Given the description of an element on the screen output the (x, y) to click on. 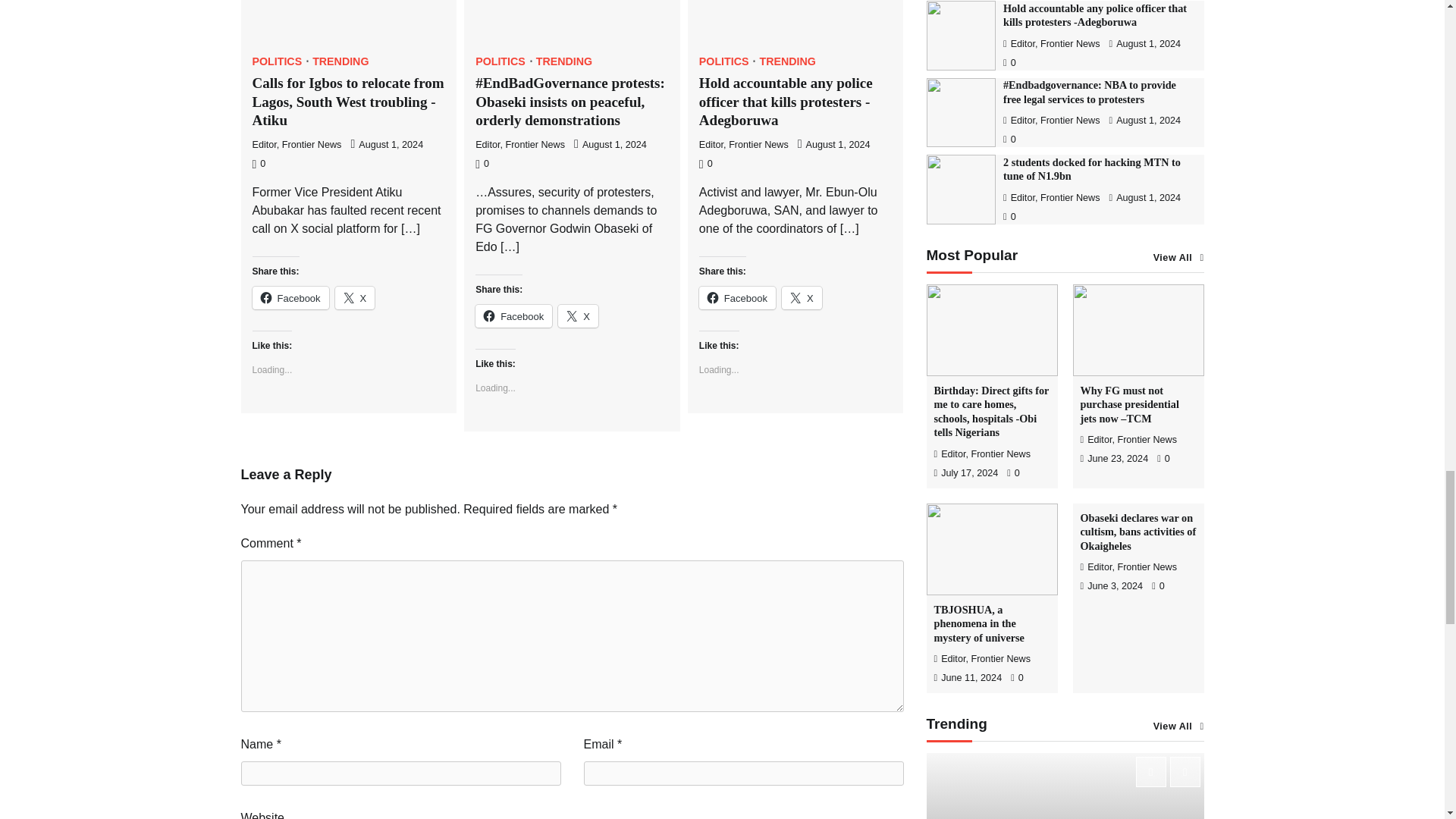
Click to share on X (577, 315)
Facebook (290, 297)
Click to share on Facebook (513, 315)
POLITICS (279, 61)
Click to share on Facebook (737, 297)
Click to share on X (801, 297)
Click to share on Facebook (290, 297)
TRENDING (340, 61)
Editor, Frontier News (295, 144)
